Given the description of an element on the screen output the (x, y) to click on. 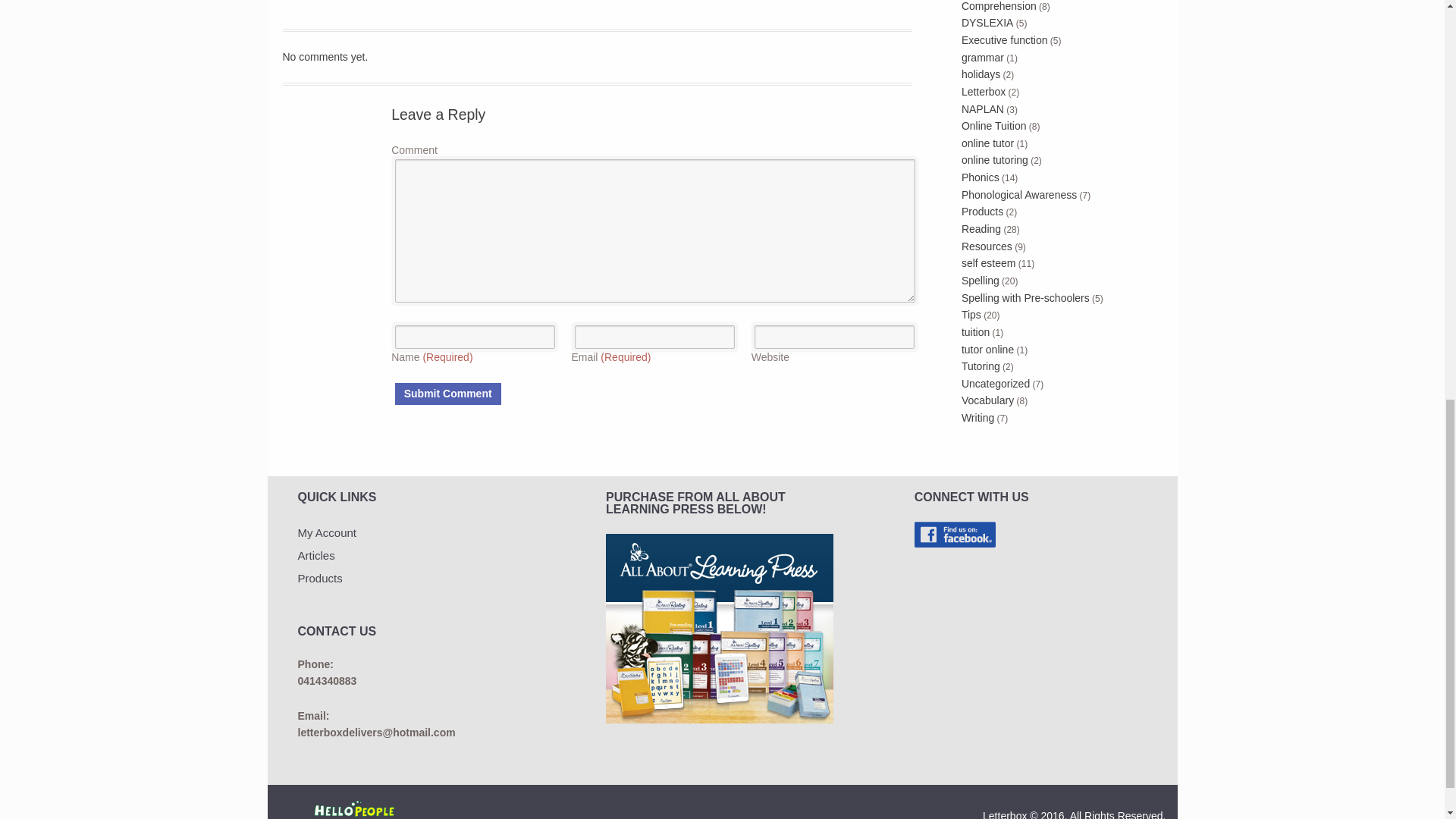
Software and App Developer (355, 810)
grammar (982, 57)
Submit Comment (447, 393)
Comprehension (998, 6)
Executive function (1004, 39)
Submit Comment (447, 393)
DYSLEXIA (986, 22)
holidays (980, 73)
